Given the description of an element on the screen output the (x, y) to click on. 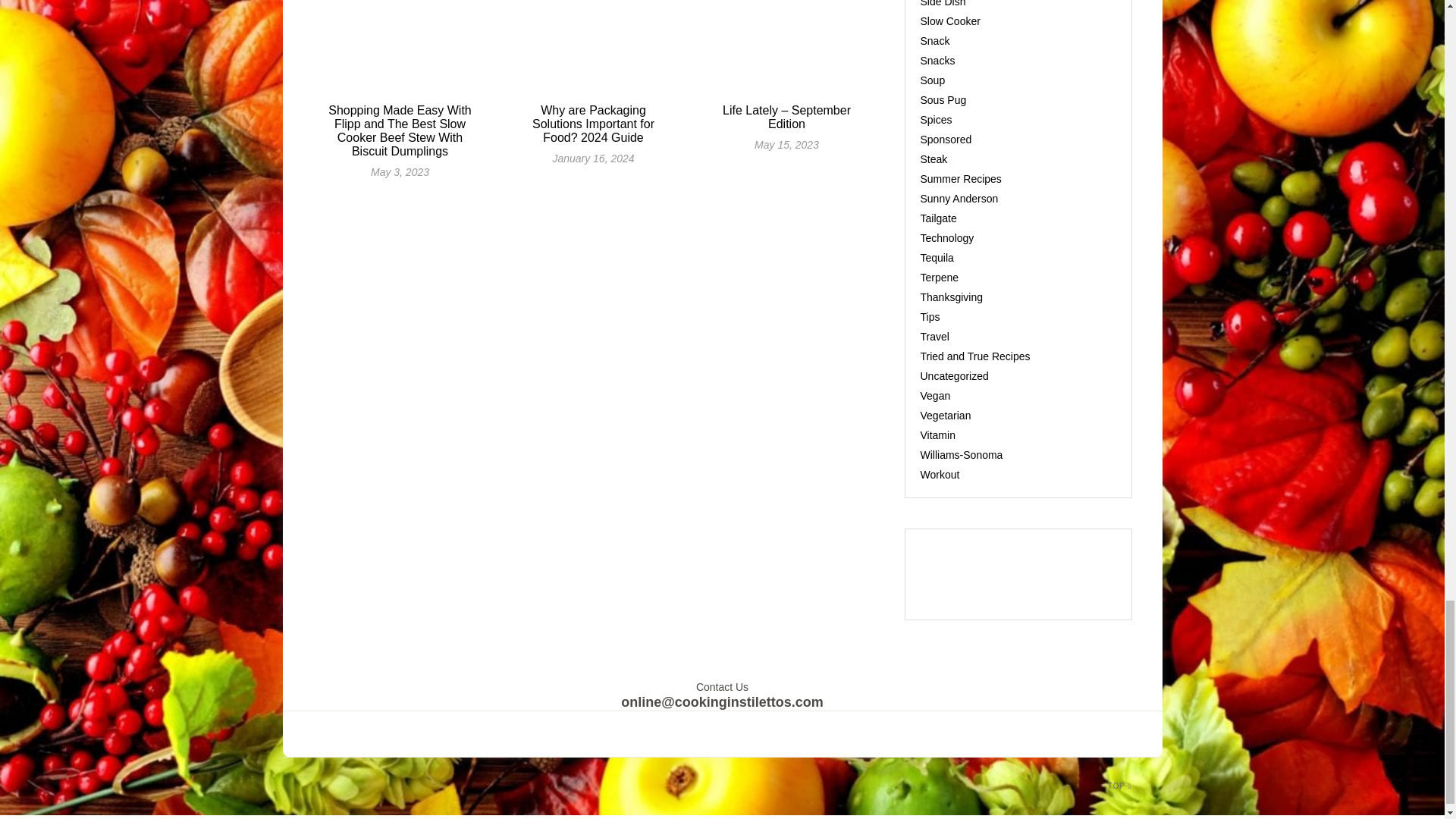
Why are Packaging Solutions Important for Food? 2024 Guide (592, 124)
